Given the description of an element on the screen output the (x, y) to click on. 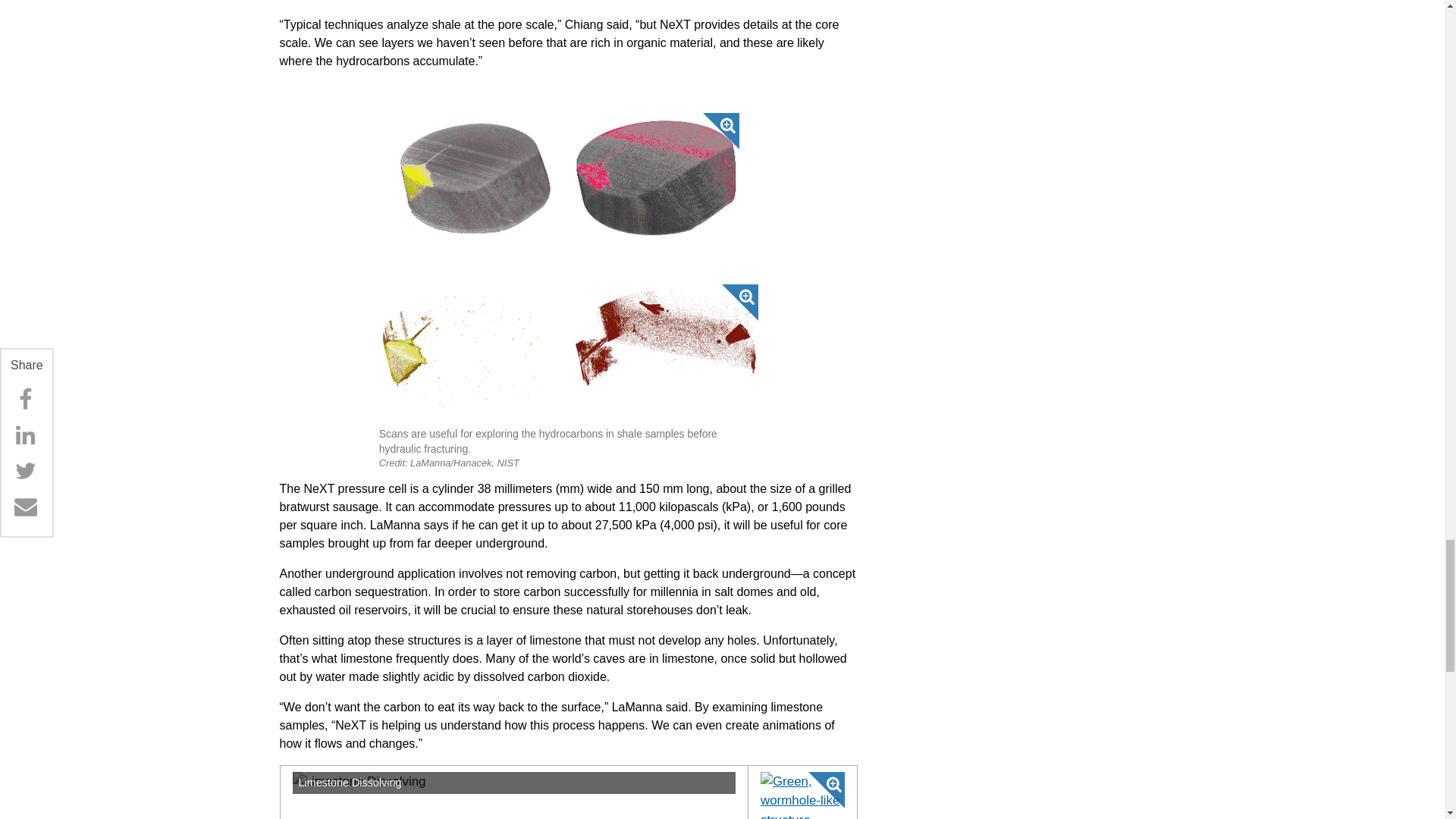
Finding Hidden Energy in Shale (568, 176)
Finding Hidden Energy in Shale (568, 354)
